Given the description of an element on the screen output the (x, y) to click on. 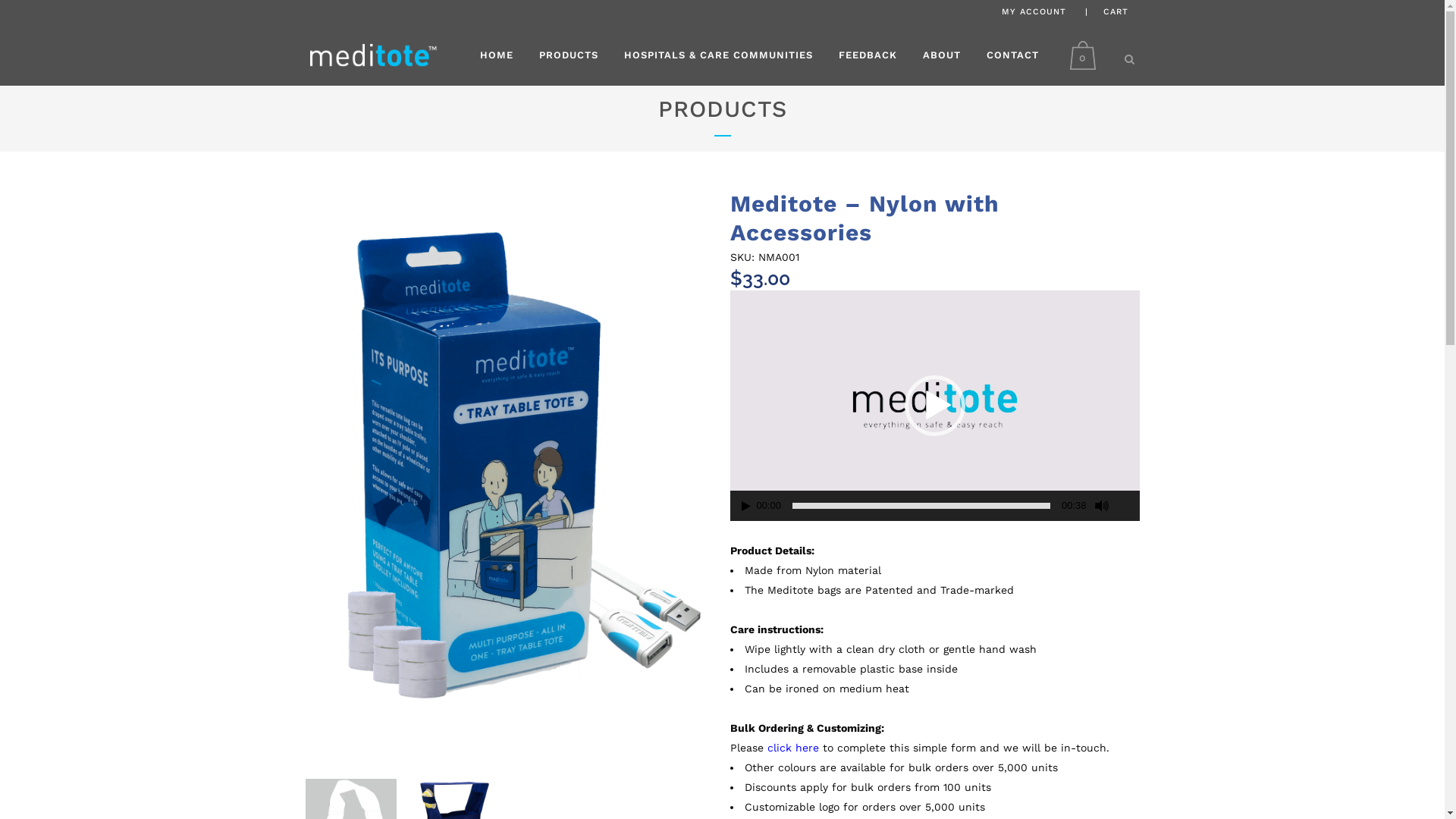
Play Element type: hover (745, 506)
HOSPITALS & CARE COMMUNITIES Element type: text (718, 55)
ABOUT Element type: text (941, 55)
Fullscreen Element type: hover (1127, 506)
HOME Element type: text (496, 55)
MY ACCOUNT Element type: text (1033, 11)
0 Element type: text (1085, 54)
FEEDBACK Element type: text (867, 55)
CONTACT Element type: text (1012, 55)
Mute Element type: hover (1101, 505)
CART Element type: text (1114, 11)
Nylon with Accessories Element type: hover (509, 476)
click here Element type: text (793, 747)
PRODUCTS Element type: text (568, 55)
